Given the description of an element on the screen output the (x, y) to click on. 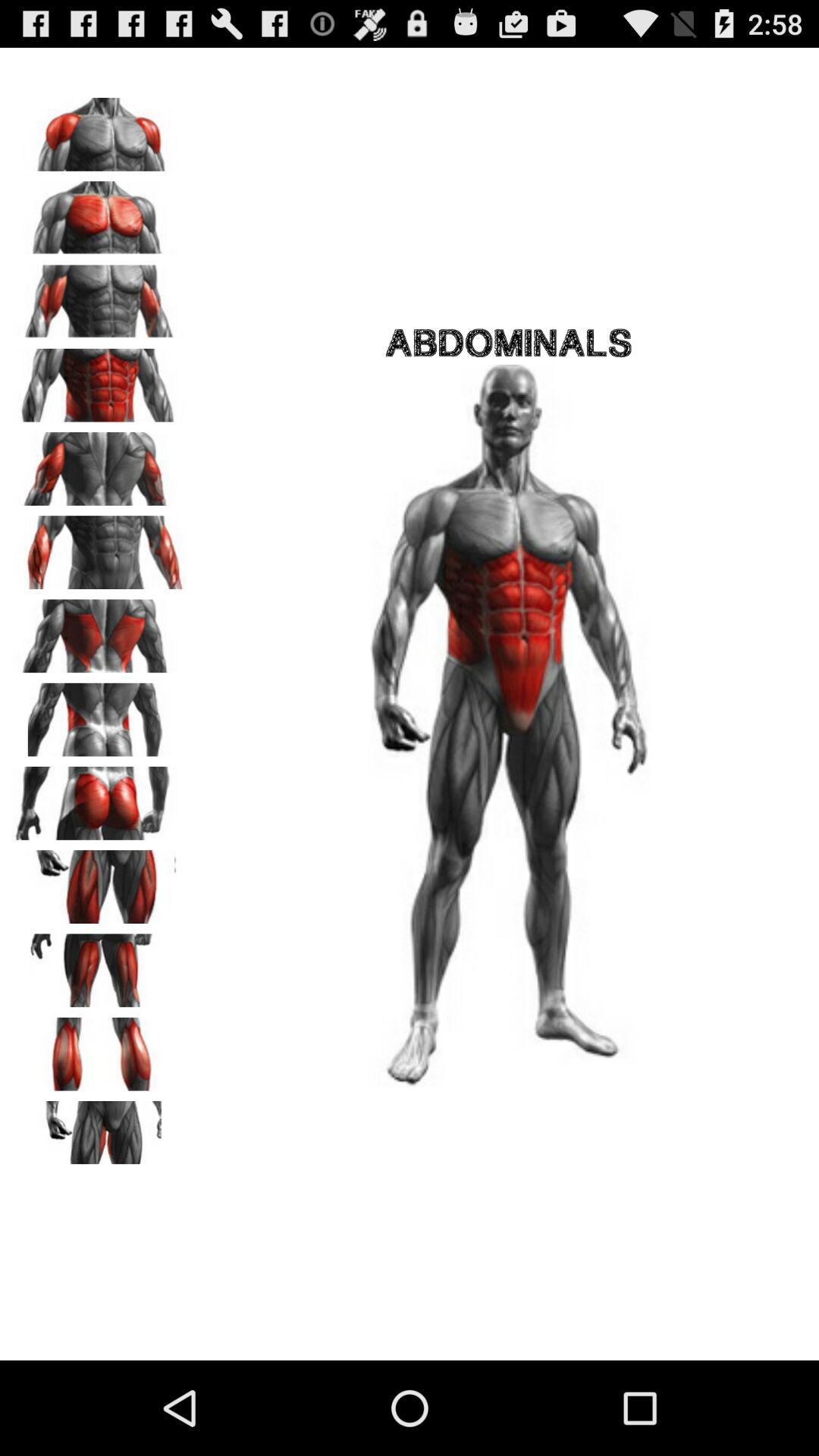
switch body part (99, 630)
